Given the description of an element on the screen output the (x, y) to click on. 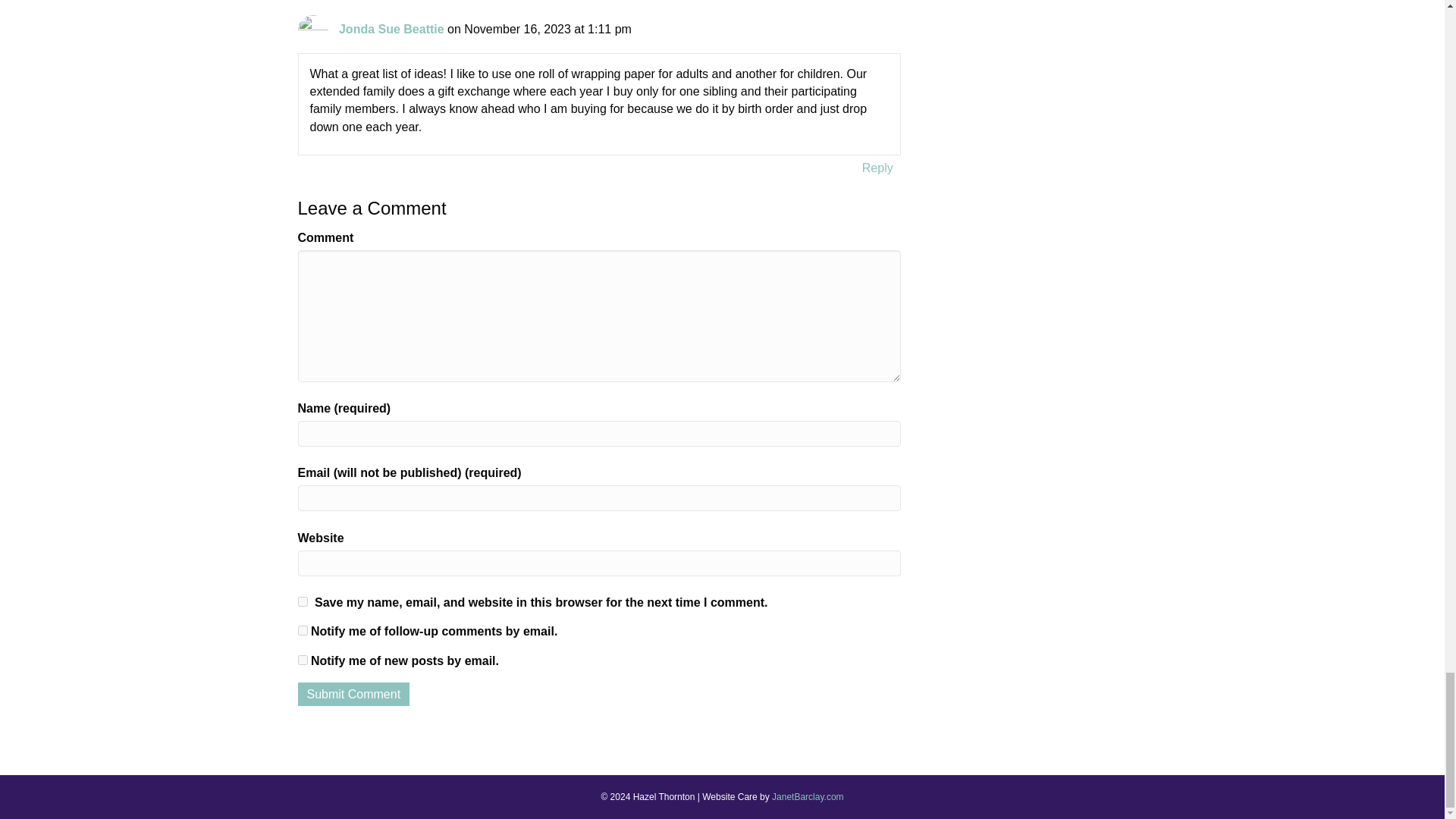
Submit Comment (353, 693)
subscribe (302, 630)
subscribe (302, 660)
yes (302, 601)
